Given the description of an element on the screen output the (x, y) to click on. 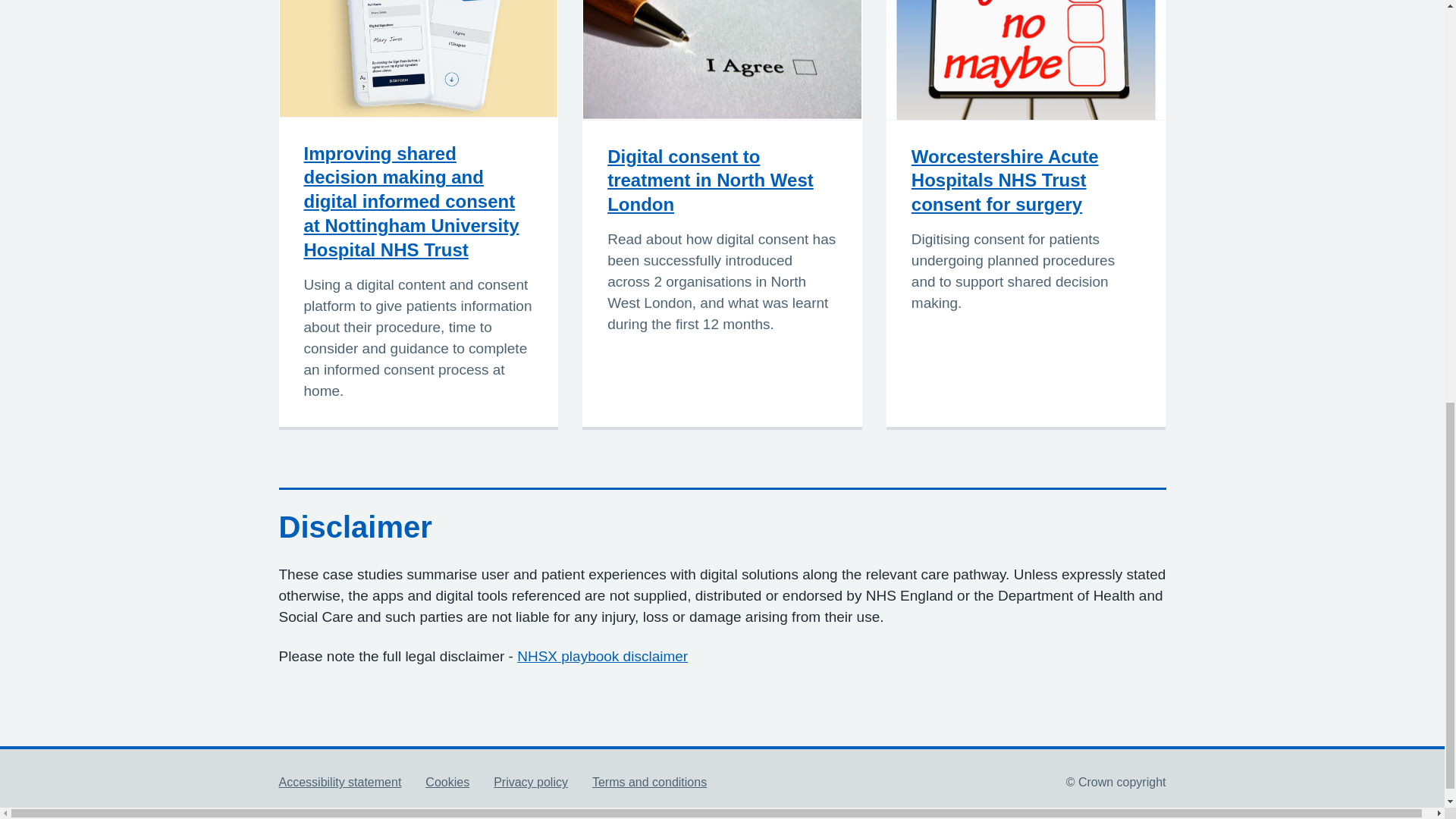
NHSX playbook disclaimer (601, 656)
Accessibility statement (340, 781)
Cookies (446, 781)
Privacy policy (530, 781)
Terms and conditions (649, 781)
